Given the description of an element on the screen output the (x, y) to click on. 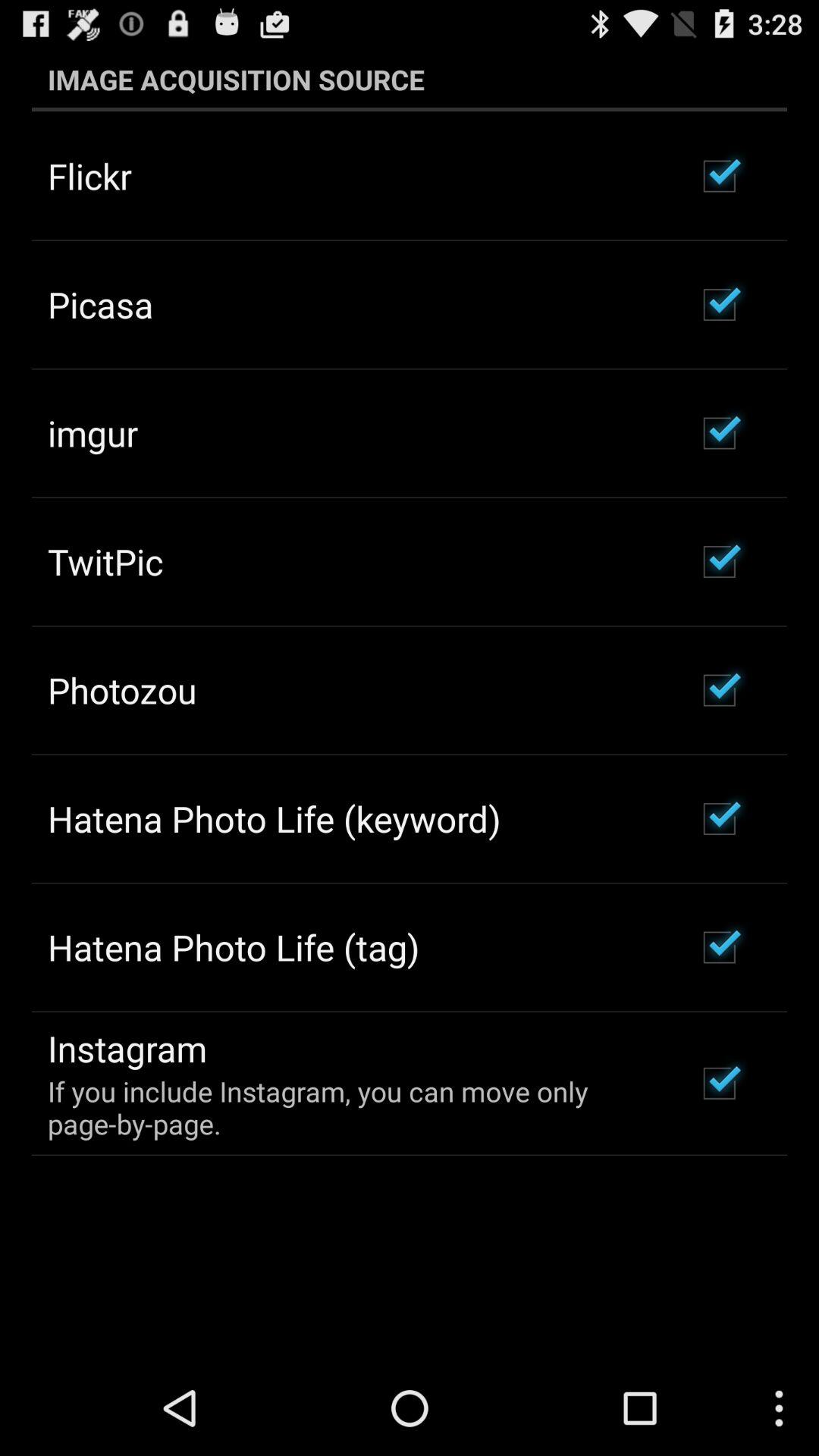
press the item below the flickr item (100, 304)
